Given the description of an element on the screen output the (x, y) to click on. 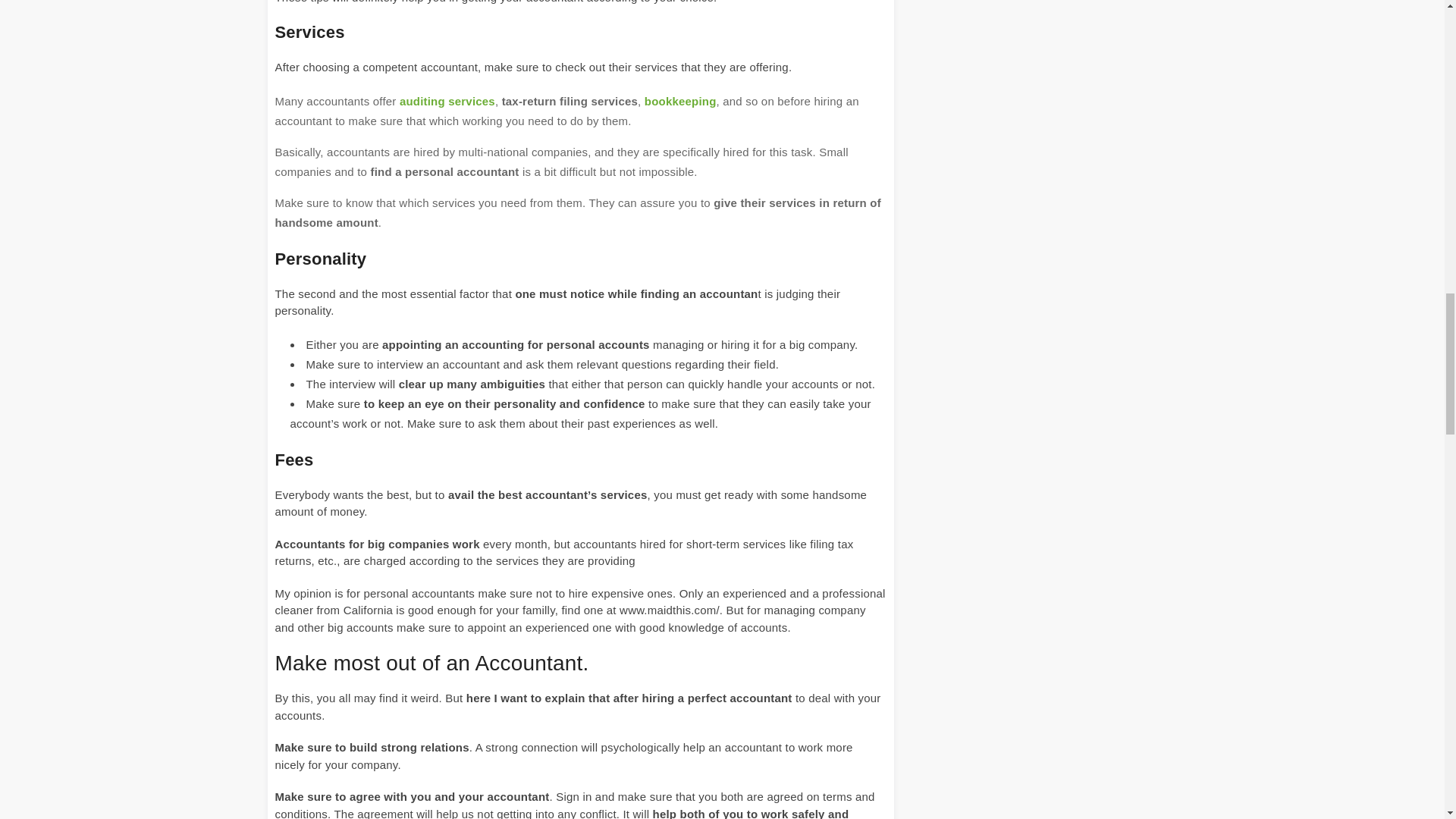
bookkeeping (680, 100)
auditing services (446, 100)
